Given the description of an element on the screen output the (x, y) to click on. 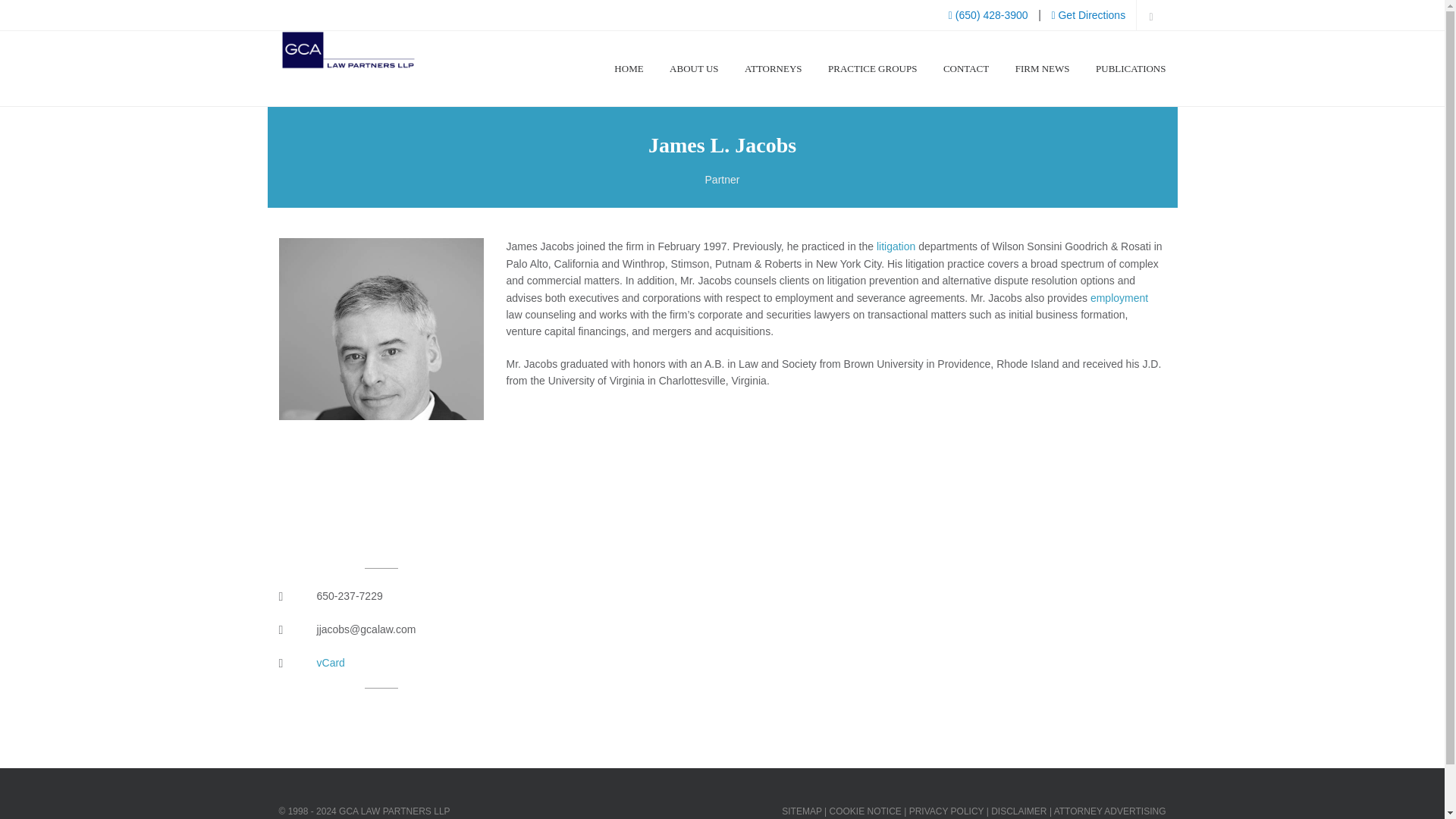
litigation (895, 246)
DISCLAIMER (1018, 810)
PUBLICATIONS (1131, 69)
vCard (331, 662)
ATTORNEY ADVERTISING (1110, 810)
SITEMAP (801, 810)
COOKIE NOTICE (865, 810)
employment (1119, 297)
PRACTICE GROUPS (872, 69)
PRIVACY POLICY (946, 810)
